Given the description of an element on the screen output the (x, y) to click on. 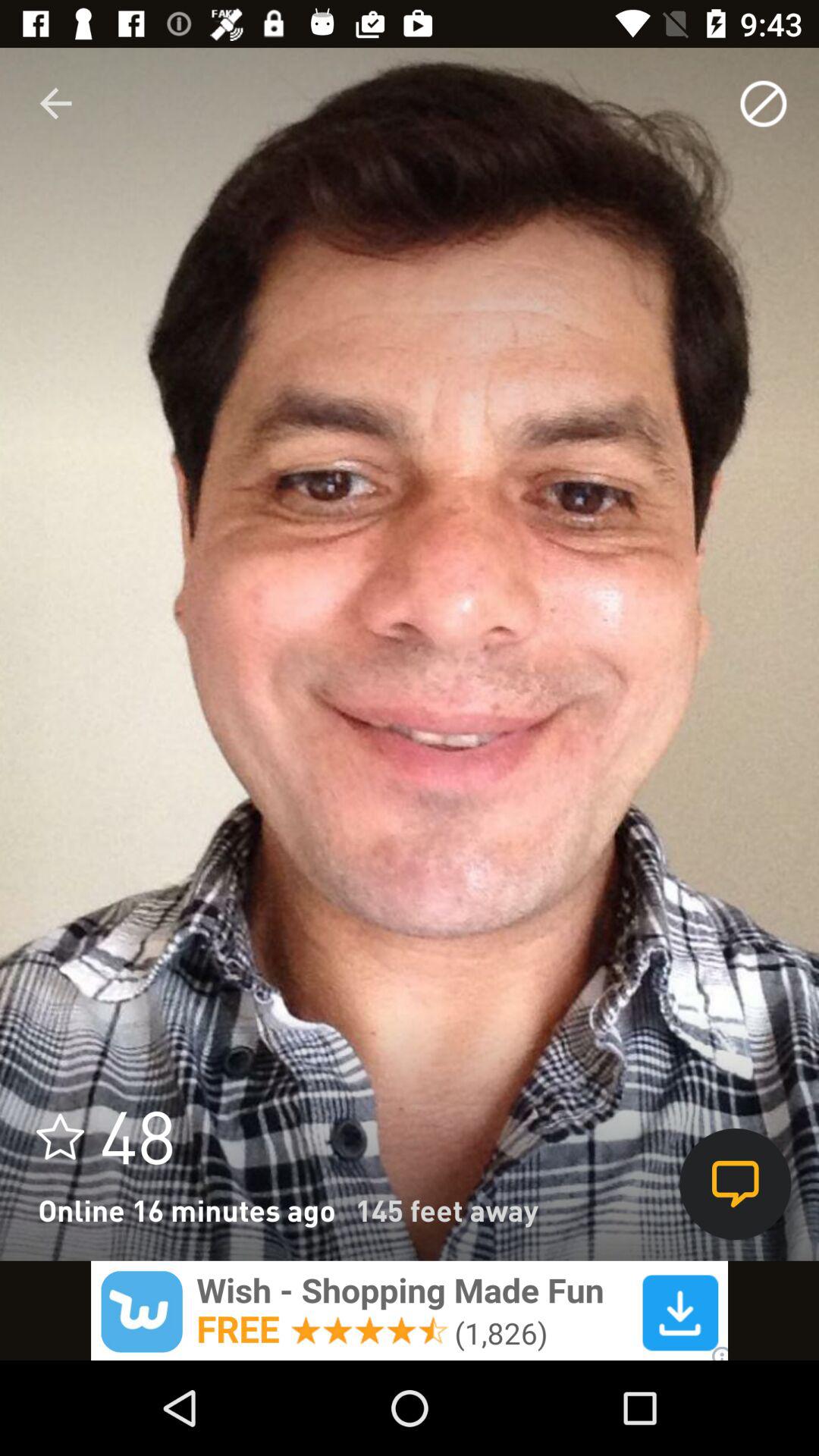
go to wish (409, 1310)
